Given the description of an element on the screen output the (x, y) to click on. 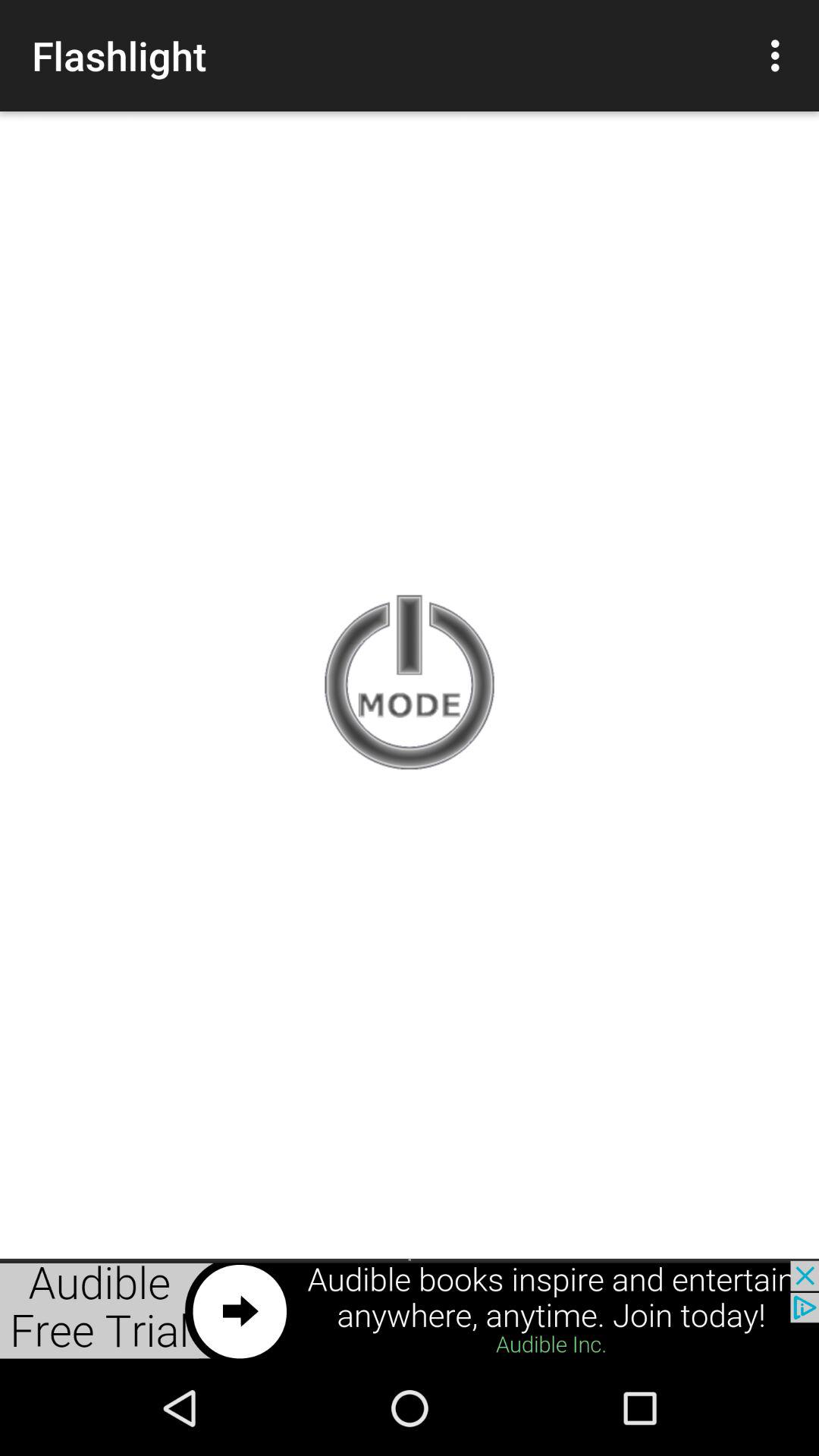
turn on (409, 684)
